Given the description of an element on the screen output the (x, y) to click on. 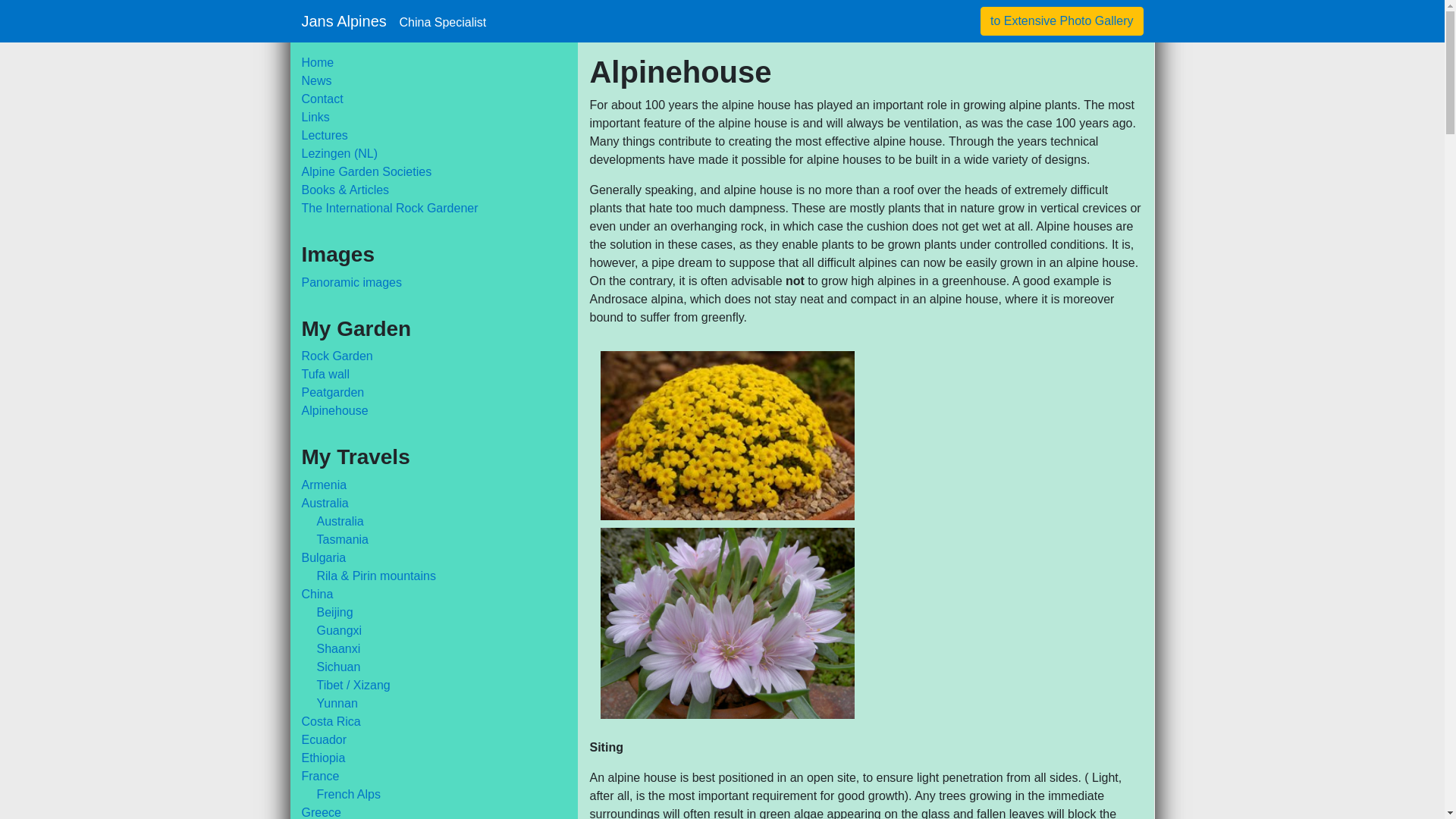
Jans Alpines   China Specialist (393, 20)
Dionysia aretioides (726, 435)
Jans Alpines (393, 20)
